Given the description of an element on the screen output the (x, y) to click on. 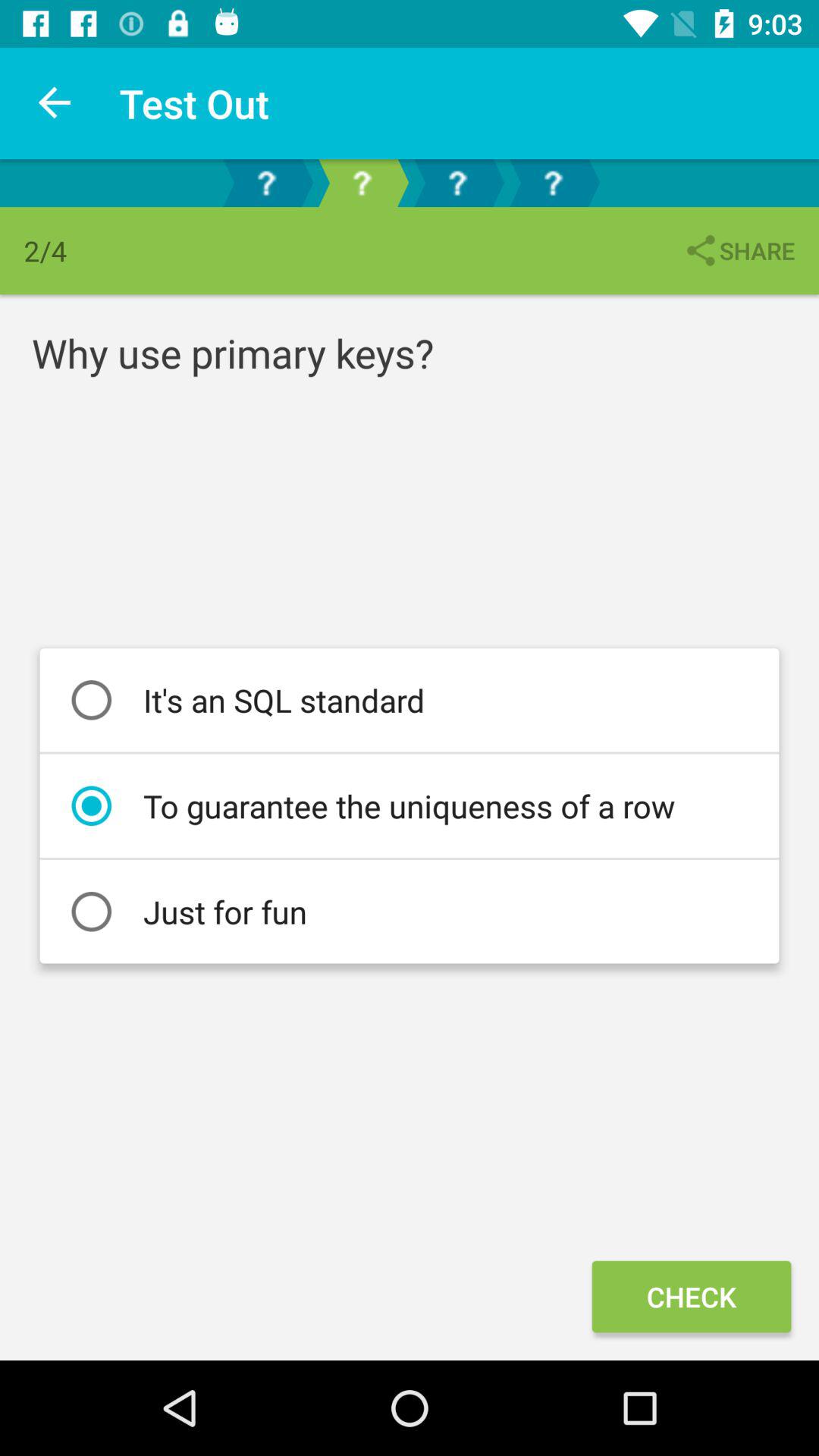
previous question (265, 183)
